Given the description of an element on the screen output the (x, y) to click on. 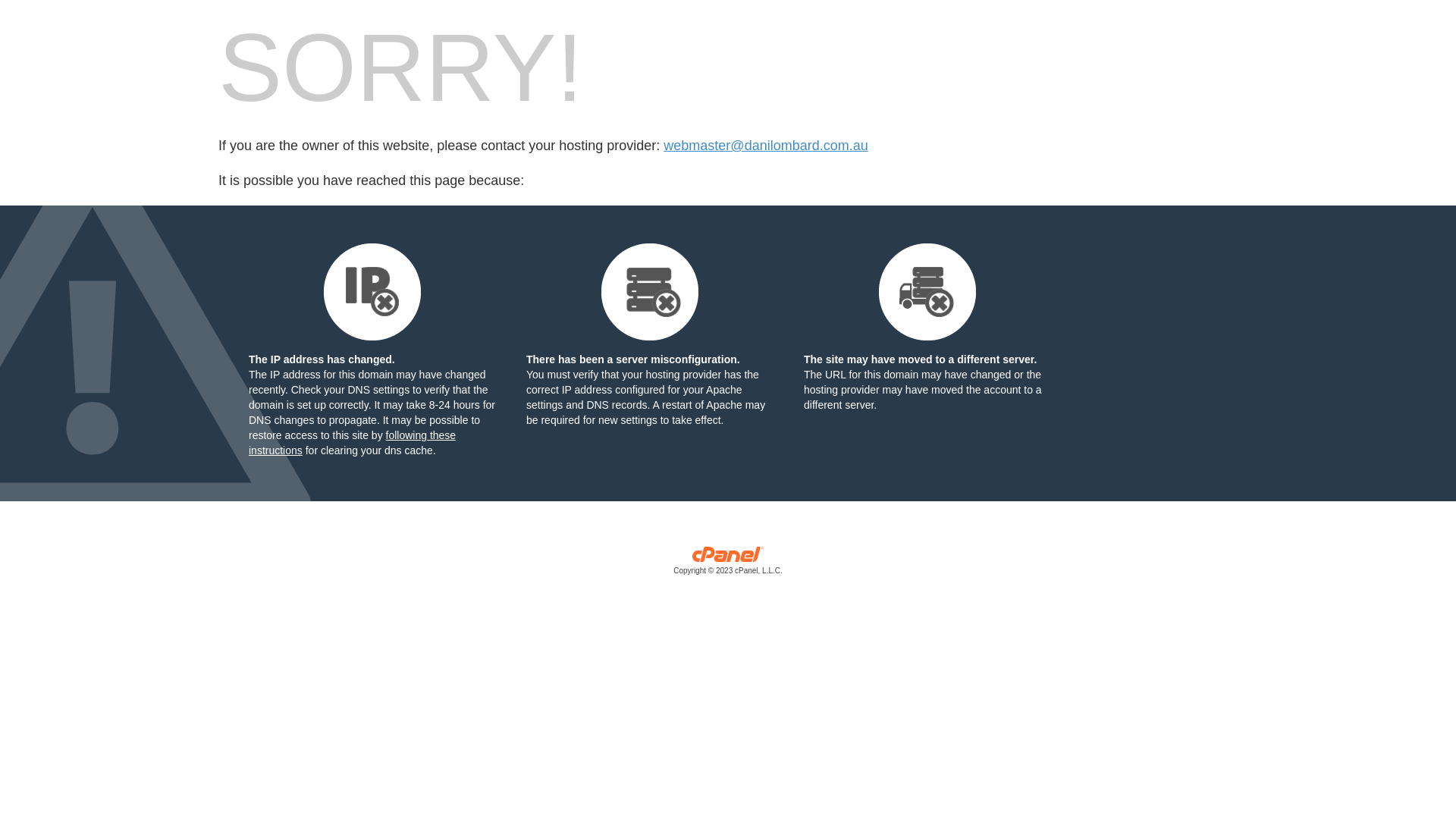
following these instructions Element type: text (351, 442)
webmaster@danilombard.com.au Element type: text (765, 145)
